Given the description of an element on the screen output the (x, y) to click on. 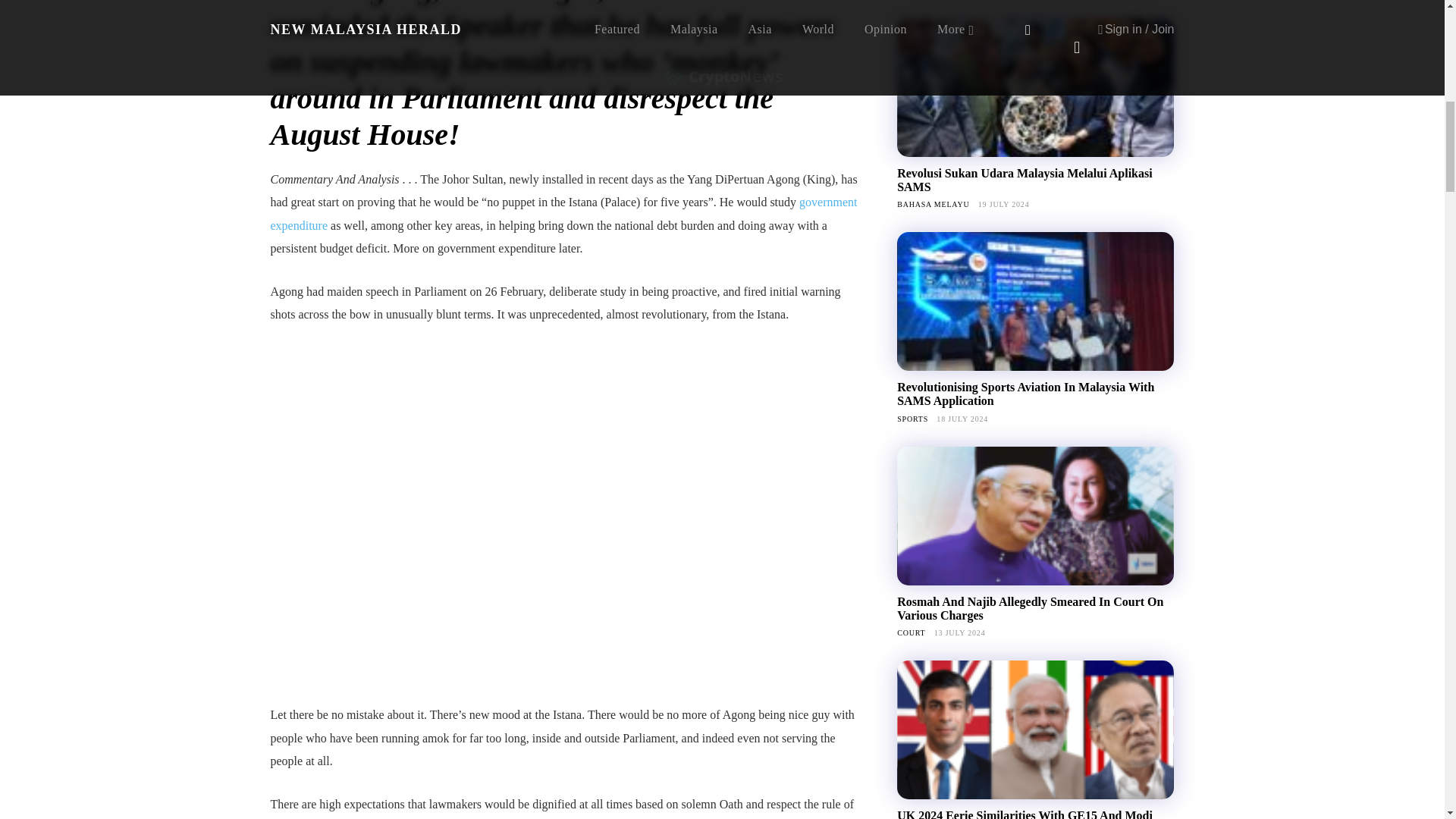
government expenditure (563, 212)
government expenditure (563, 212)
